Given the description of an element on the screen output the (x, y) to click on. 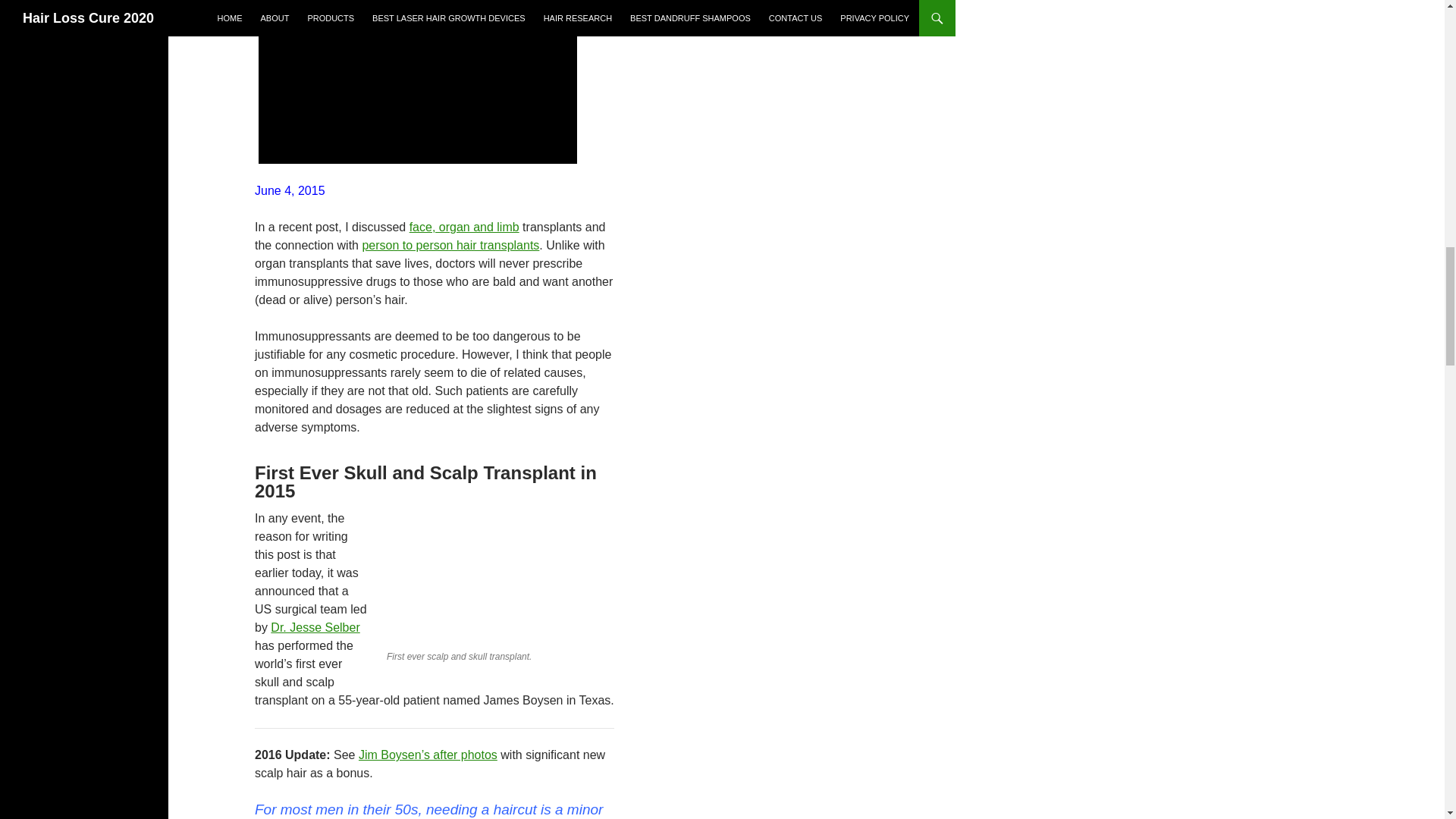
Dr. Jesse Selber (314, 626)
person to person hair transplants (449, 245)
face, organ and limb (464, 226)
